Given the description of an element on the screen output the (x, y) to click on. 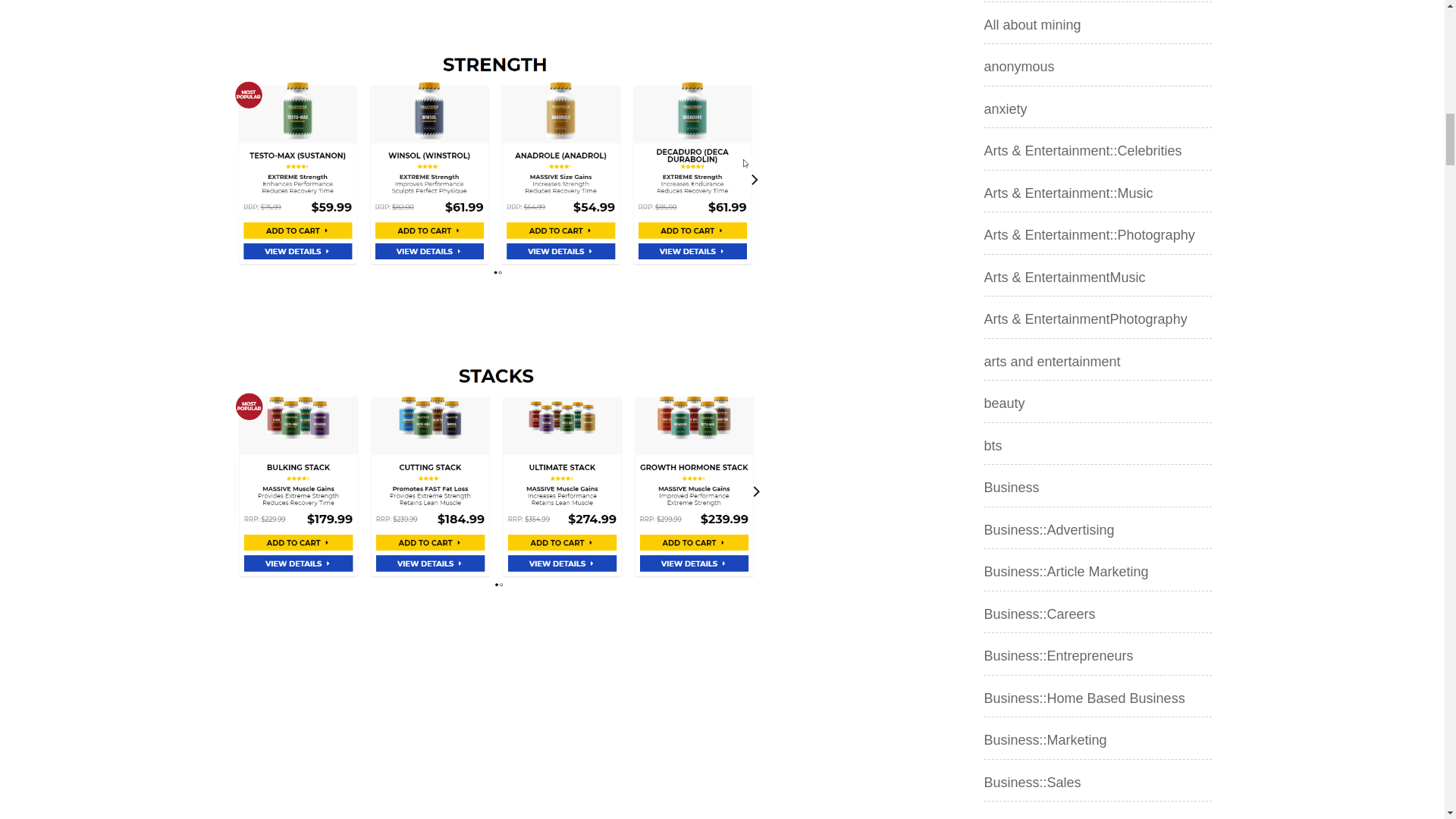
Testo max hd website (498, 162)
anxiety (1005, 109)
anonymous (1019, 66)
Testo max hd website (498, 472)
All about mining (1032, 24)
